Given the description of an element on the screen output the (x, y) to click on. 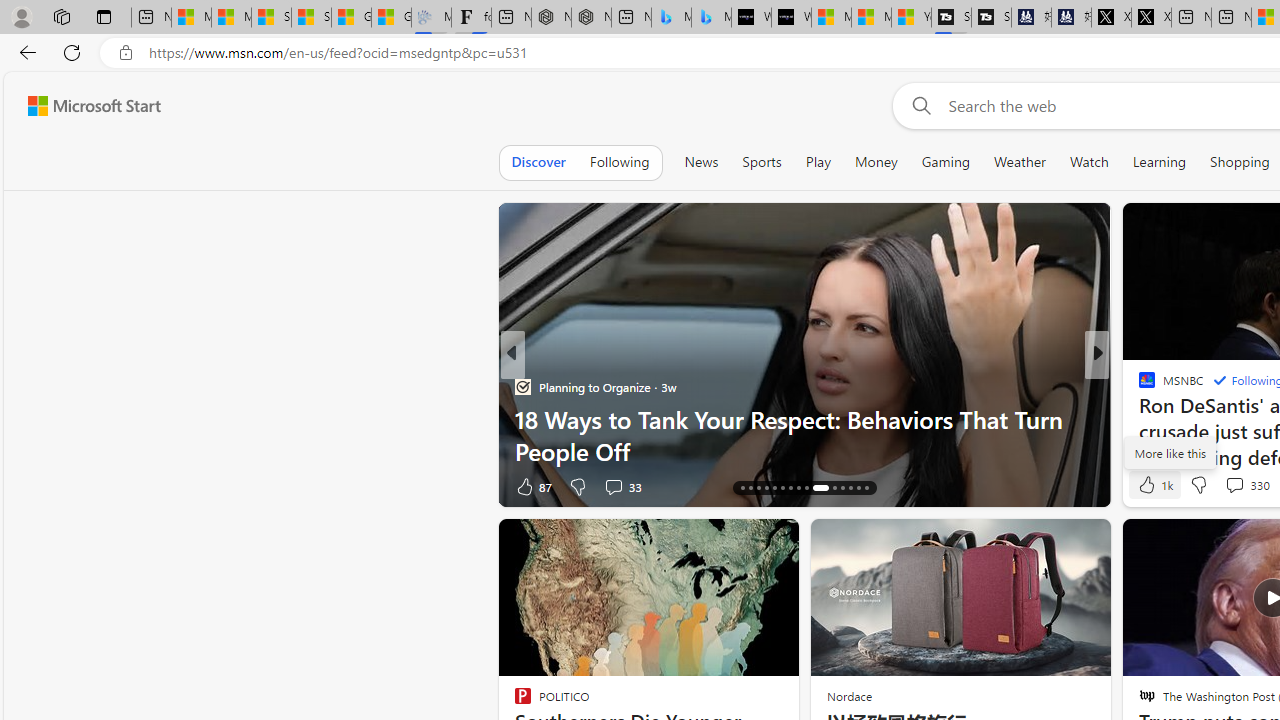
181 Like (1151, 486)
Skip to footer (82, 105)
LGBTQ Nation (1138, 386)
View comments 33 Comment (613, 485)
Hide this story (738, 542)
AutomationID: tab-23 (797, 487)
Comments turned off for this story (1222, 486)
Newsweek (1138, 386)
Microsoft Bing Travel - Stays in Bangkok, Bangkok, Thailand (671, 17)
